Given the description of an element on the screen output the (x, y) to click on. 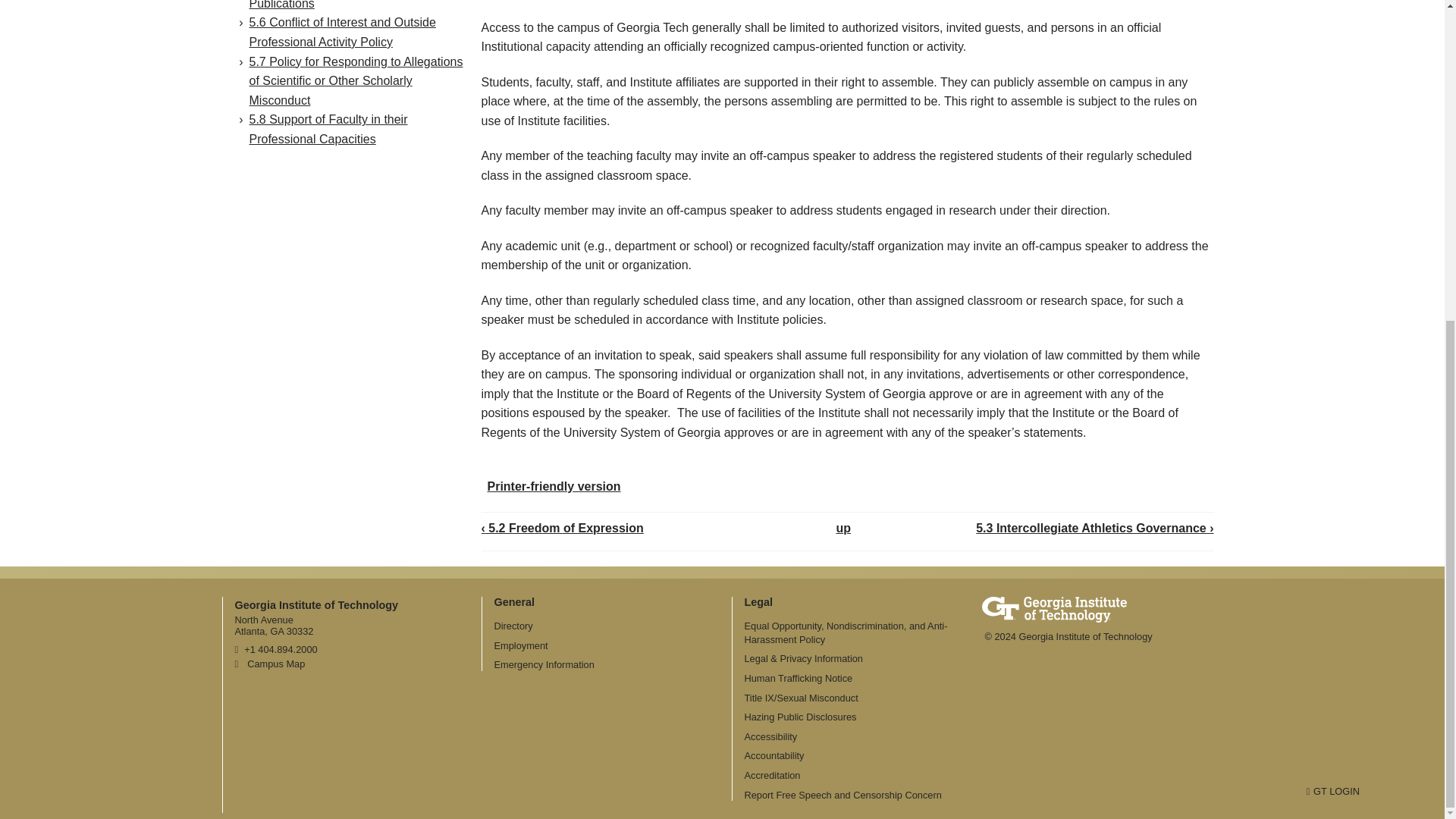
Georgia Institute of Technology Emergency Information (544, 664)
Go to previous page (561, 527)
Go to parent page (842, 527)
Georgia Institute of Technology Accessibility Resources (770, 736)
Georgia Institute of Technology Directory (513, 625)
General Main Menu Category (515, 602)
Georgia Tech Hazing Conduct History (800, 716)
Georgia Human Trafficking Resources (798, 677)
Go to next page (1093, 527)
